Given the description of an element on the screen output the (x, y) to click on. 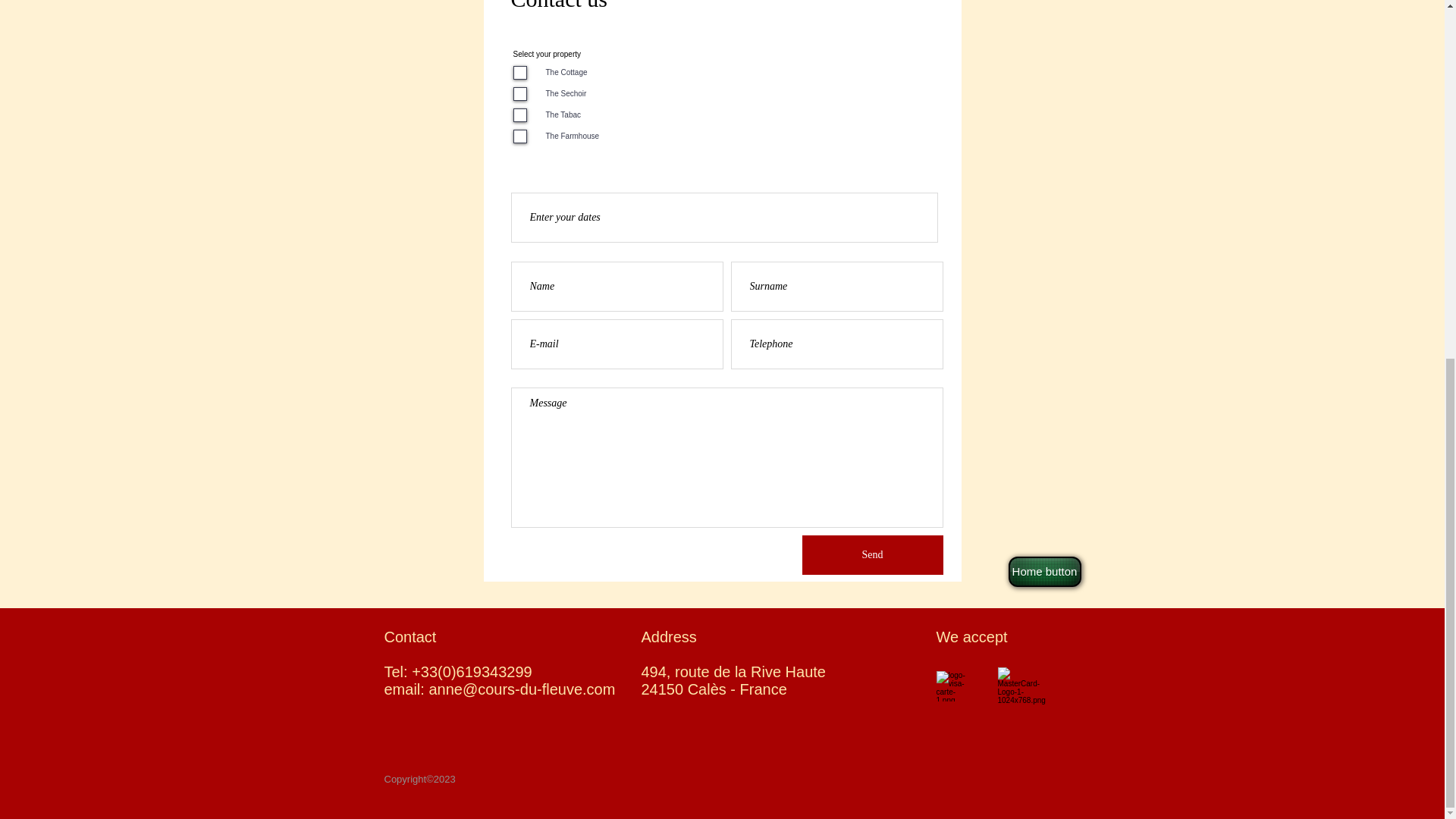
Home button (1045, 571)
Send (872, 554)
